Given the description of an element on the screen output the (x, y) to click on. 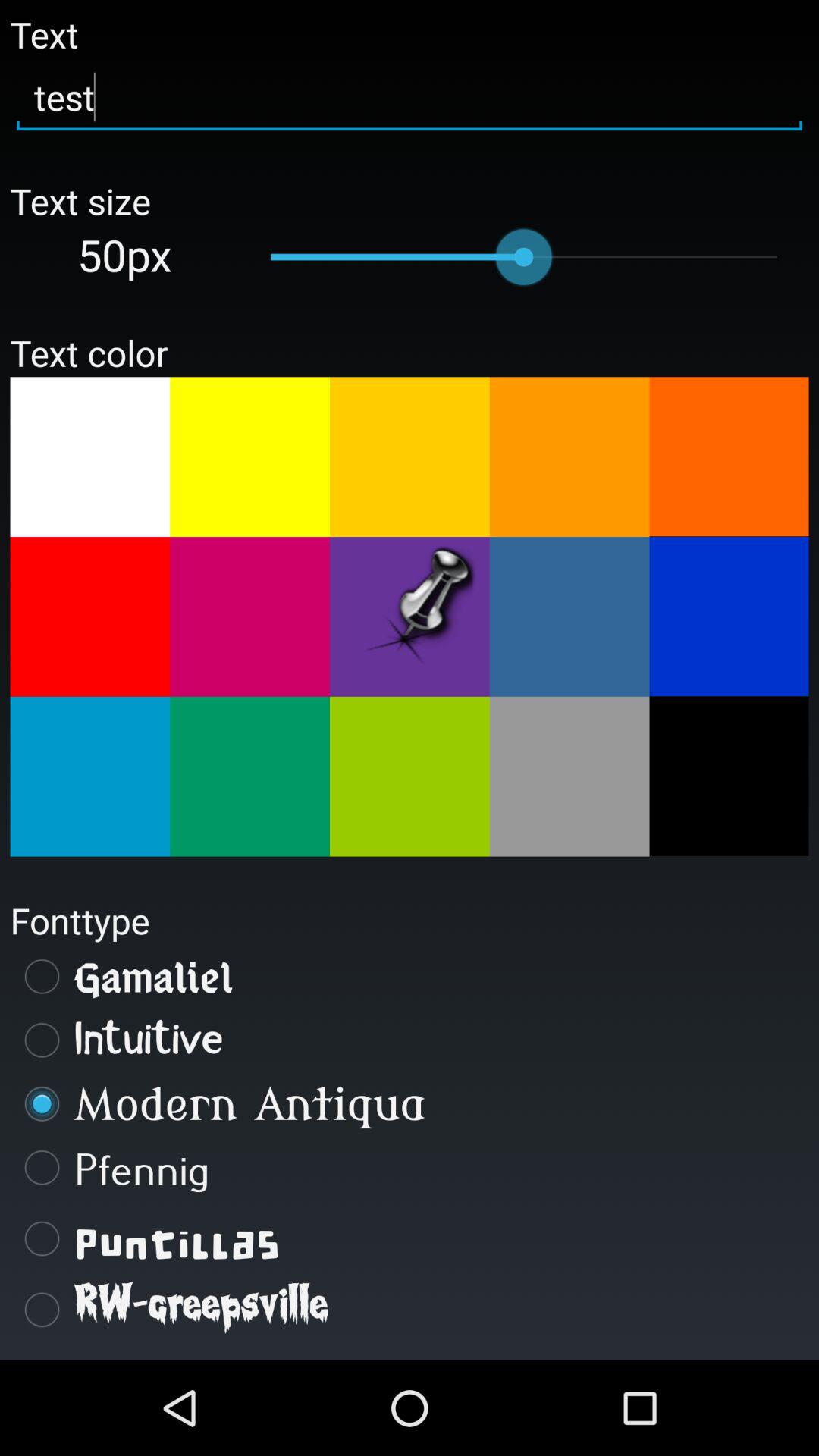
light green text color (409, 776)
